Given the description of an element on the screen output the (x, y) to click on. 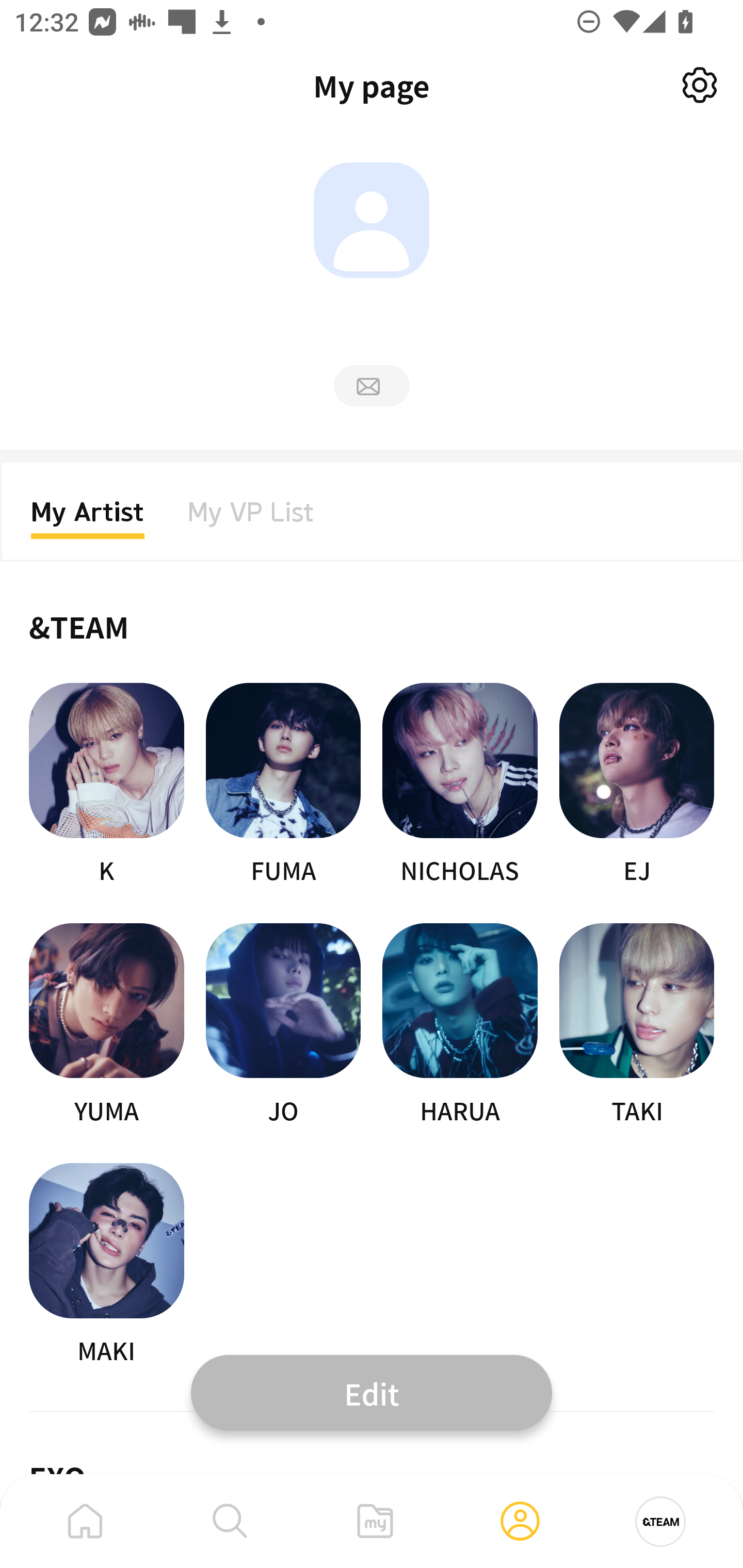
My Artist (87, 517)
My VP List (250, 517)
K (106, 785)
FUMA (282, 785)
NICHOLAS (459, 785)
EJ (636, 785)
YUMA (106, 1025)
JO (282, 1025)
HARUA (459, 1025)
TAKI (636, 1025)
MAKI (106, 1265)
Edit (371, 1392)
